Given the description of an element on the screen output the (x, y) to click on. 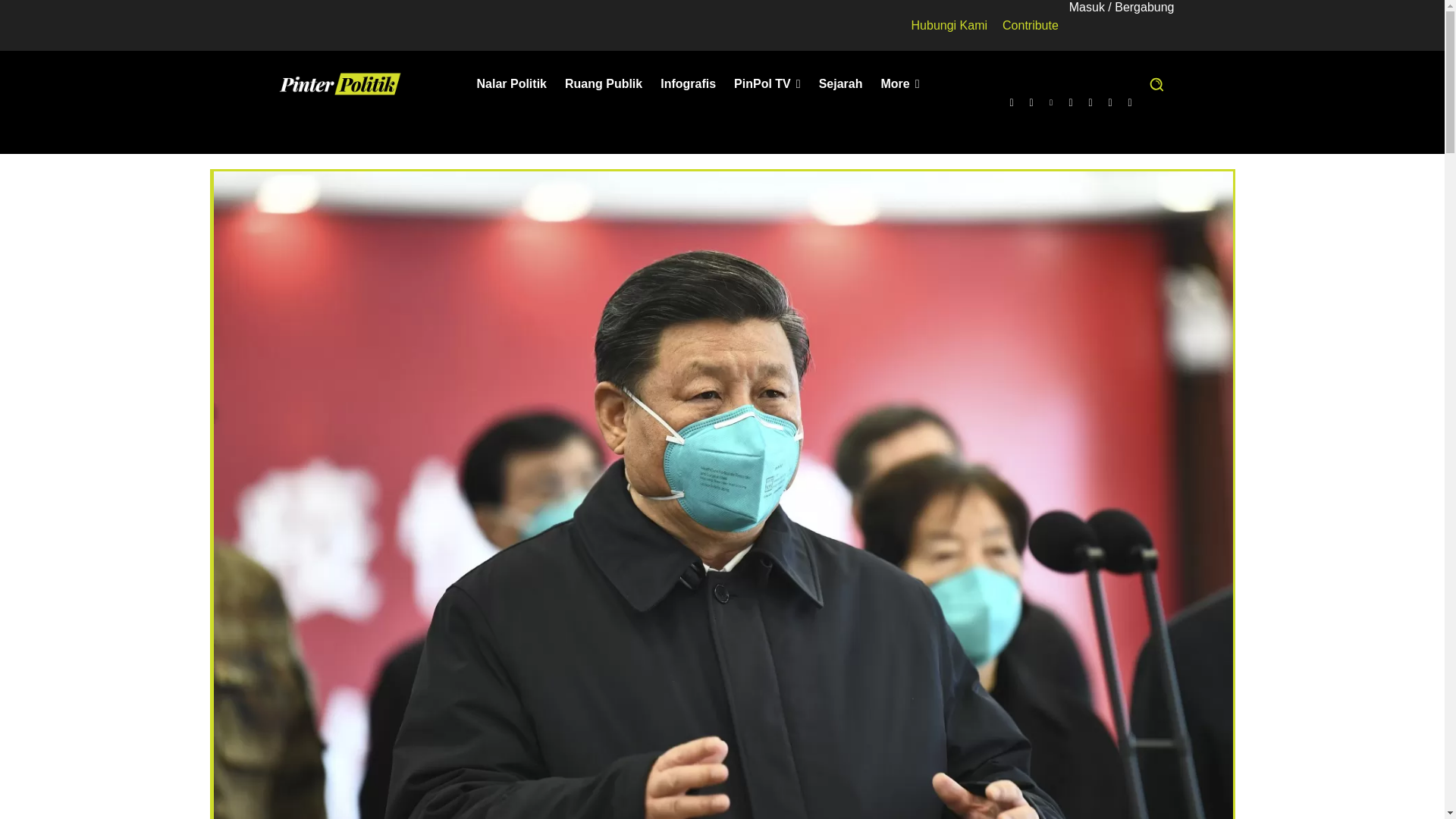
Instagram (1031, 102)
Hubungi Kami (949, 25)
Contribute (1030, 25)
Spotify (1070, 102)
Youtube (1130, 102)
Nalar Politik (510, 84)
Linkedin (1051, 102)
Hubungi Kami (949, 25)
Contribute (1030, 25)
Facebook (1012, 102)
TikTok (1091, 102)
Twitter (1110, 102)
